Given the description of an element on the screen output the (x, y) to click on. 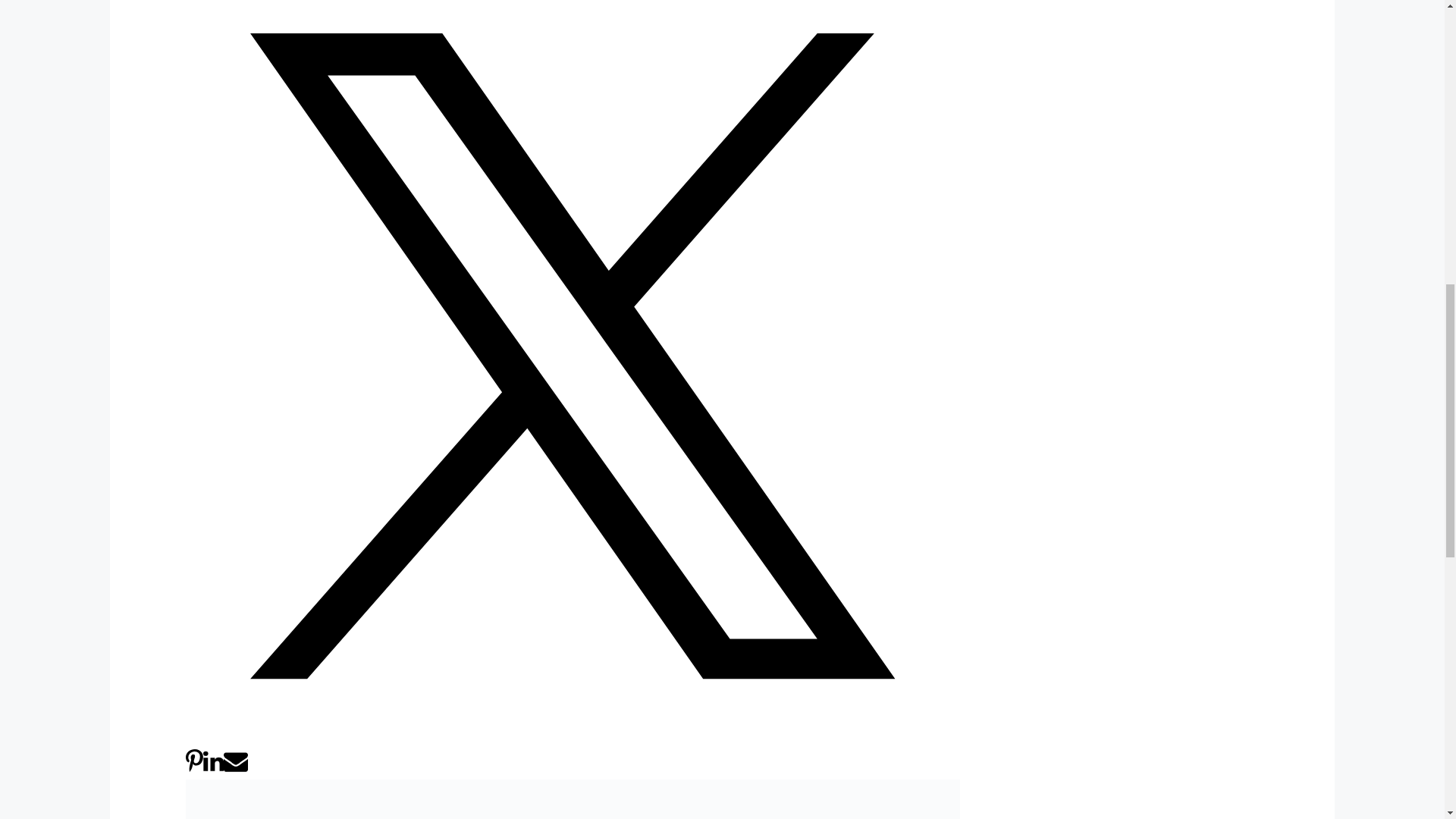
Share on Pinterest (194, 768)
Share on Twitter (572, 738)
Share on LinkedIn (213, 768)
Share via Email (235, 768)
